Given the description of an element on the screen output the (x, y) to click on. 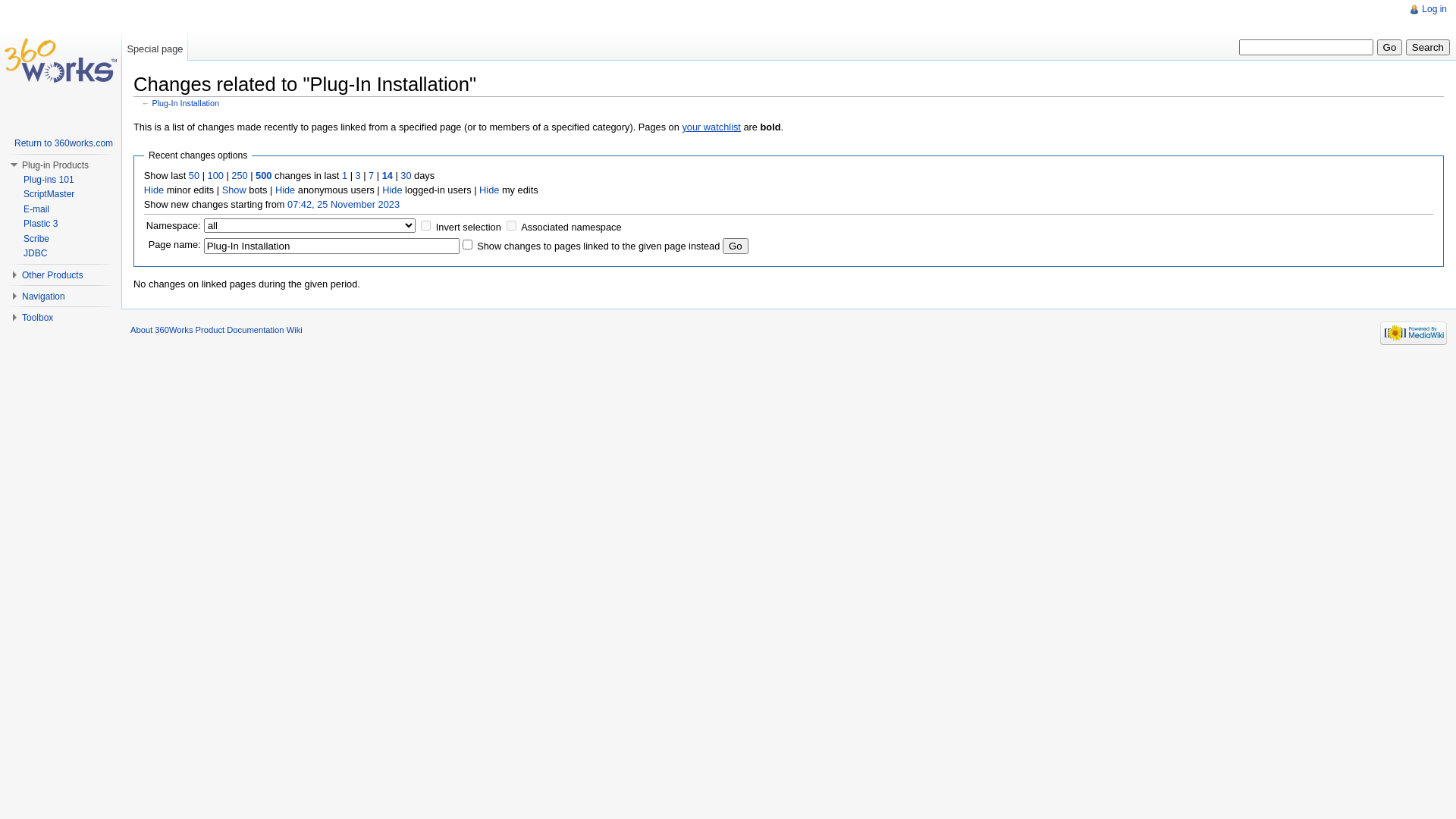
Go Element type: text (735, 246)
Hide Element type: text (391, 189)
1 Element type: text (344, 175)
250 Element type: text (239, 175)
Log in Element type: text (1433, 8)
JDBC Element type: text (35, 252)
About 360Works Product Documentation Wiki Element type: text (216, 329)
Go to a page with this exact name if exists Element type: hover (1389, 47)
Plug-ins 101 Element type: text (48, 179)
3 Element type: text (357, 175)
Scribe Element type: text (36, 238)
Go Element type: text (1389, 47)
14 Element type: text (387, 175)
Hide Element type: text (153, 189)
07:42, 25 November 2023 Element type: text (343, 204)
500 Element type: text (263, 175)
50 Element type: text (193, 175)
Special page Element type: text (155, 45)
Plug-in Products Element type: text (54, 164)
Toolbox Element type: text (37, 317)
Plastic 3 Element type: text (40, 223)
Return to 360works.com Element type: text (63, 143)
Hide Element type: text (284, 189)
Navigation Element type: text (43, 296)
Visit the main page Element type: hover (60, 60)
your watchlist Element type: text (710, 126)
Hide Element type: text (488, 189)
Search Element type: text (1427, 47)
Other Products Element type: text (52, 274)
100 Element type: text (215, 175)
Search the pages for this text Element type: hover (1427, 47)
Plug-In Installation Element type: text (184, 102)
ScriptMaster Element type: text (48, 193)
30 Element type: text (405, 175)
Show Element type: text (234, 189)
Search 360Works Product Documentation Wiki [alt-f] Element type: hover (1306, 47)
E-mail Element type: text (36, 208)
7 Element type: text (370, 175)
